Given the description of an element on the screen output the (x, y) to click on. 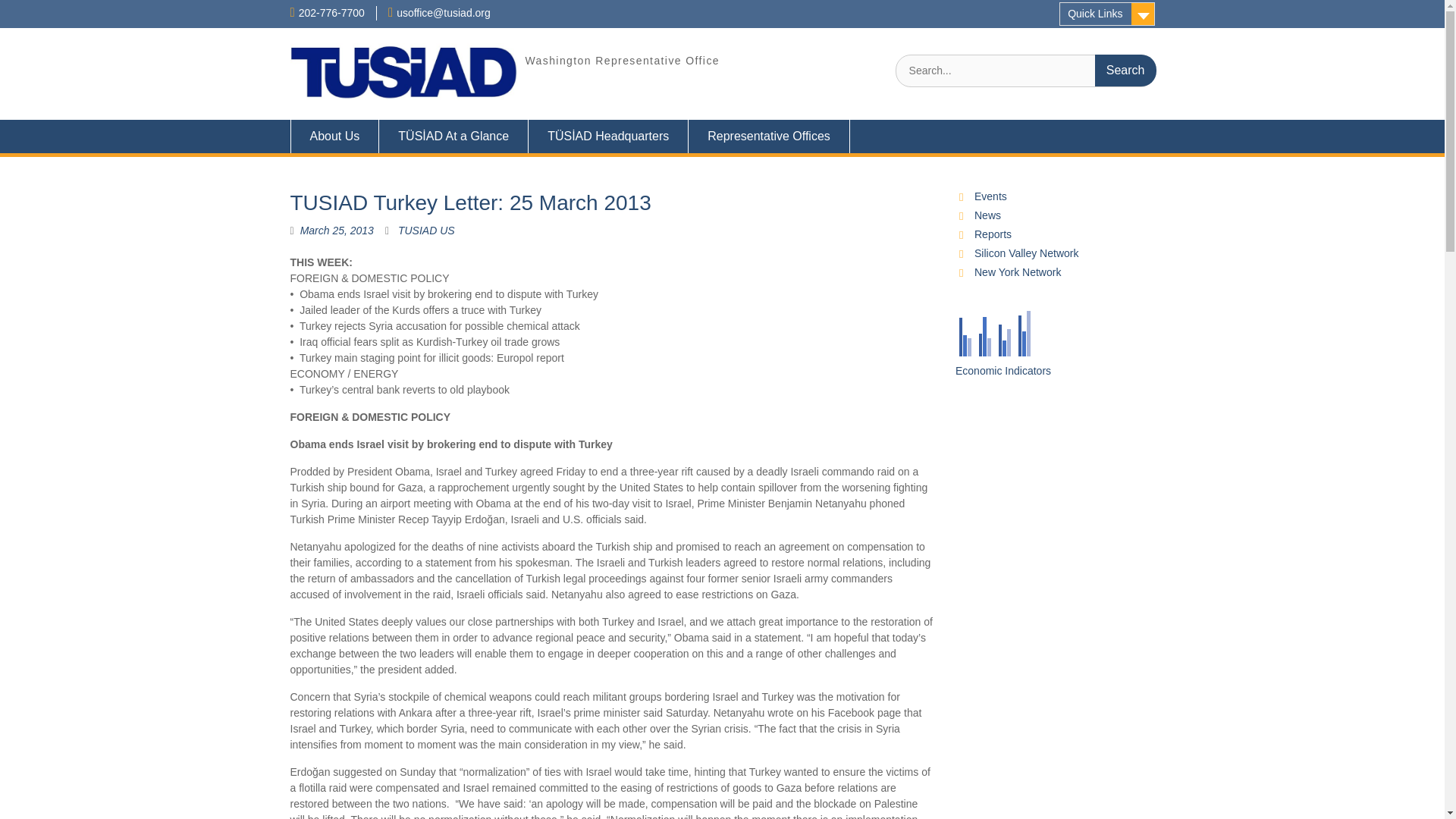
News (987, 215)
Silicon Valley Network (1026, 253)
About Us (333, 136)
202-776-7700 (331, 12)
Search for: (1025, 70)
Quick Links (1106, 13)
March 25, 2013 (336, 230)
TUSIAD US (425, 230)
Search (1125, 70)
Reports (992, 234)
Search (1125, 70)
Representative Offices (769, 136)
Events (990, 196)
Search (1125, 70)
